Given the description of an element on the screen output the (x, y) to click on. 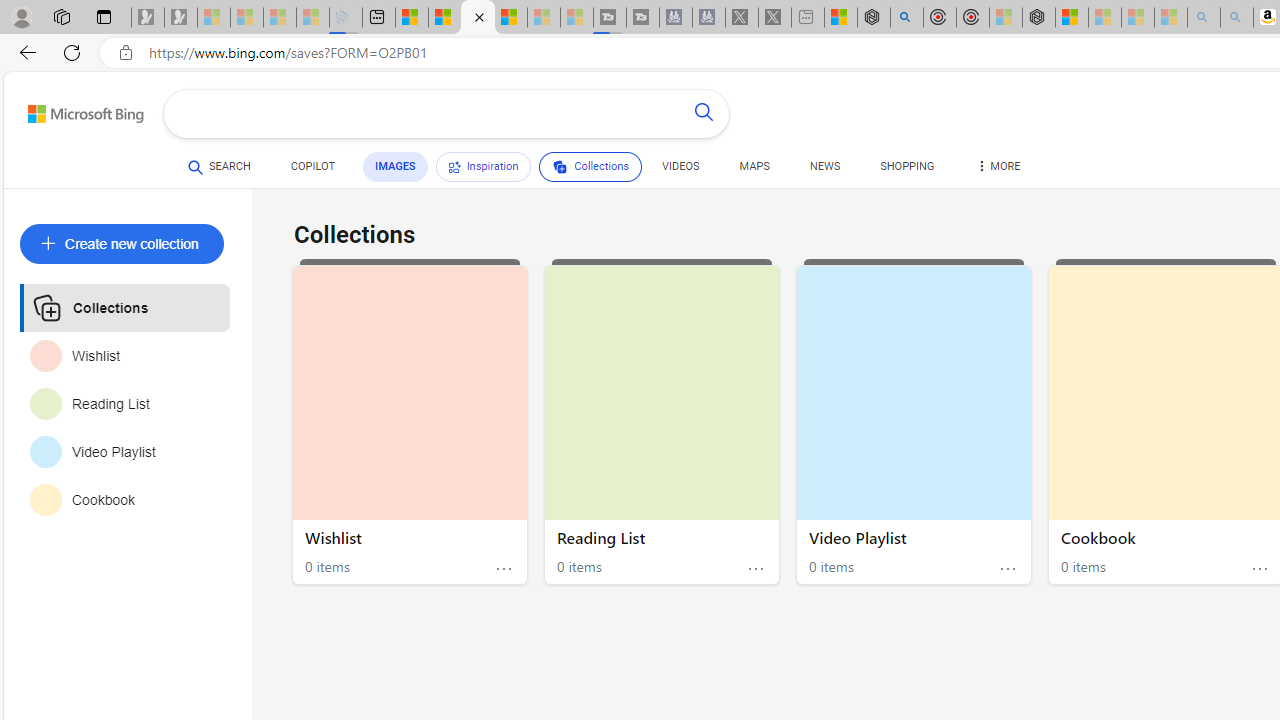
Dropdown Menu (997, 166)
COPILOT (311, 169)
Class: b_pri_nav_svg (560, 167)
SHOPPING (907, 166)
MORE (997, 169)
poe - Search (906, 17)
Search button (703, 114)
